Given the description of an element on the screen output the (x, y) to click on. 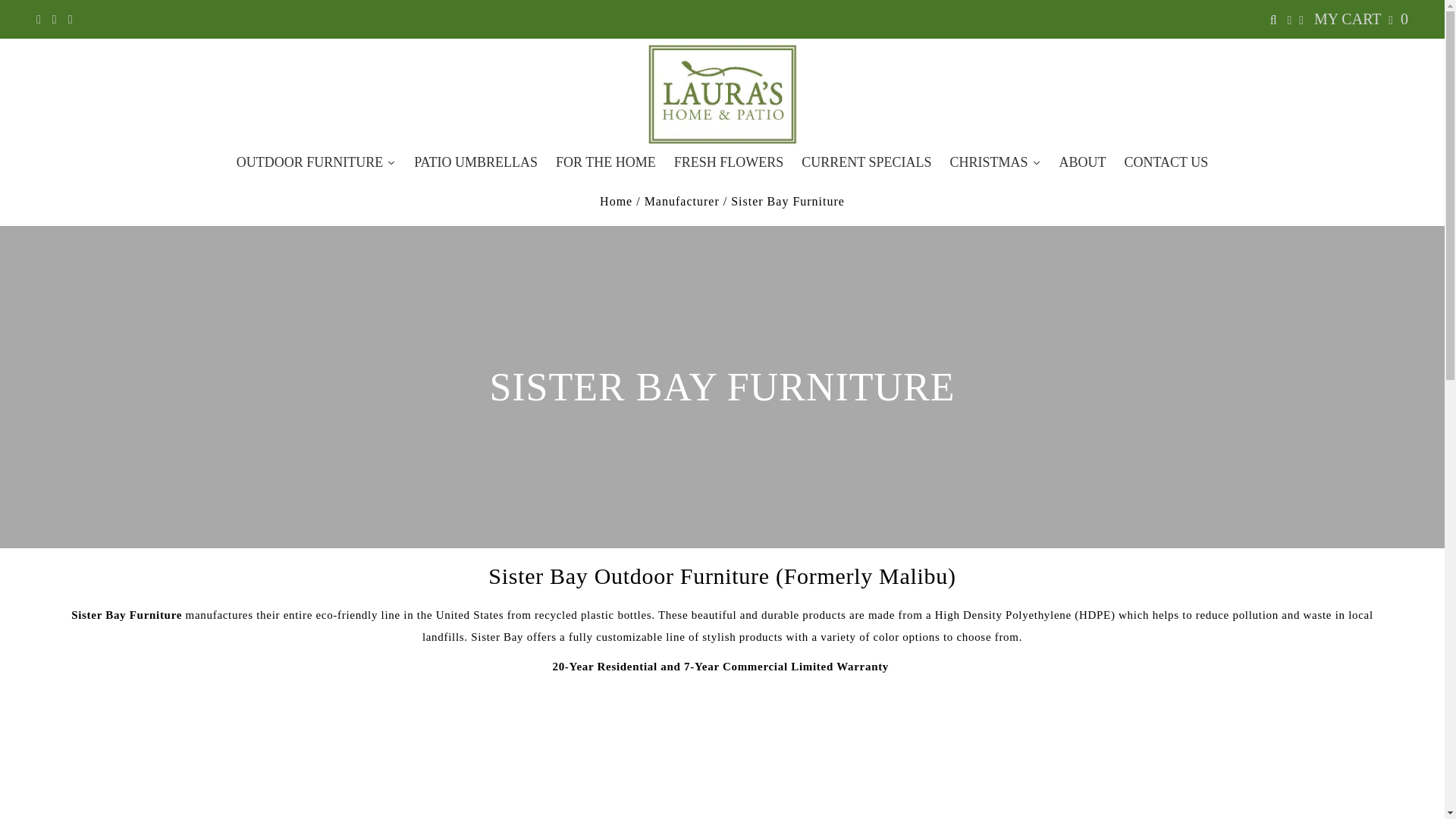
ABOUT (1082, 162)
Manufacturer (682, 201)
OUTDOOR FURNITURE (316, 162)
CHRISTMAS (994, 162)
CURRENT SPECIALS (866, 162)
CURRENT SPECIALS (866, 162)
PATIO UMBRELLAS (475, 162)
CHRISTMAS (994, 162)
OUTDOOR FURNITURE (316, 162)
CONTACT US (1166, 162)
